Given the description of an element on the screen output the (x, y) to click on. 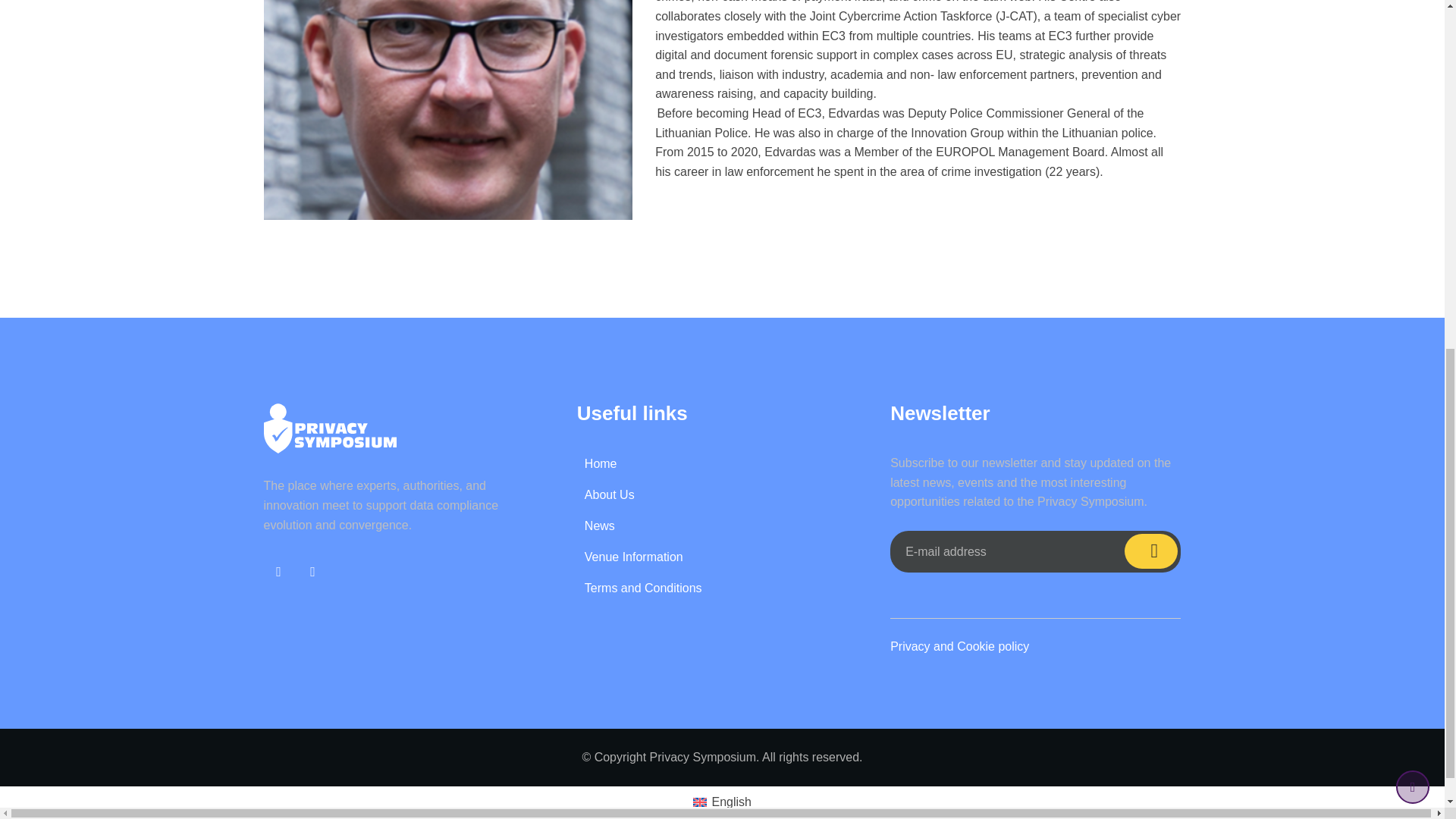
Subscribe (1150, 550)
